Given the description of an element on the screen output the (x, y) to click on. 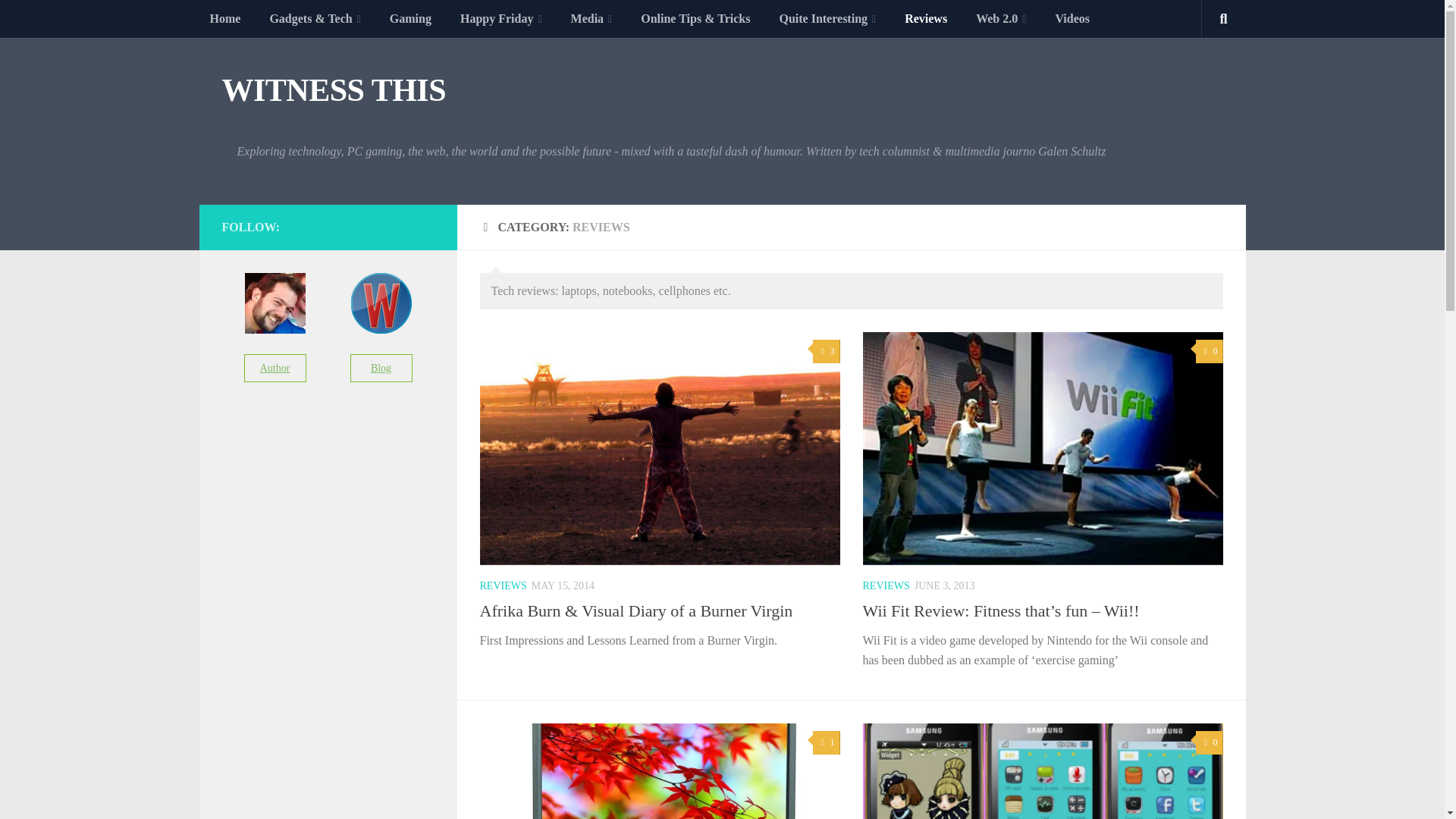
Media (591, 18)
Home (224, 18)
Gaming (410, 18)
Happy Friday (501, 18)
Skip to content (59, 20)
Advertisement (334, 547)
